Given the description of an element on the screen output the (x, y) to click on. 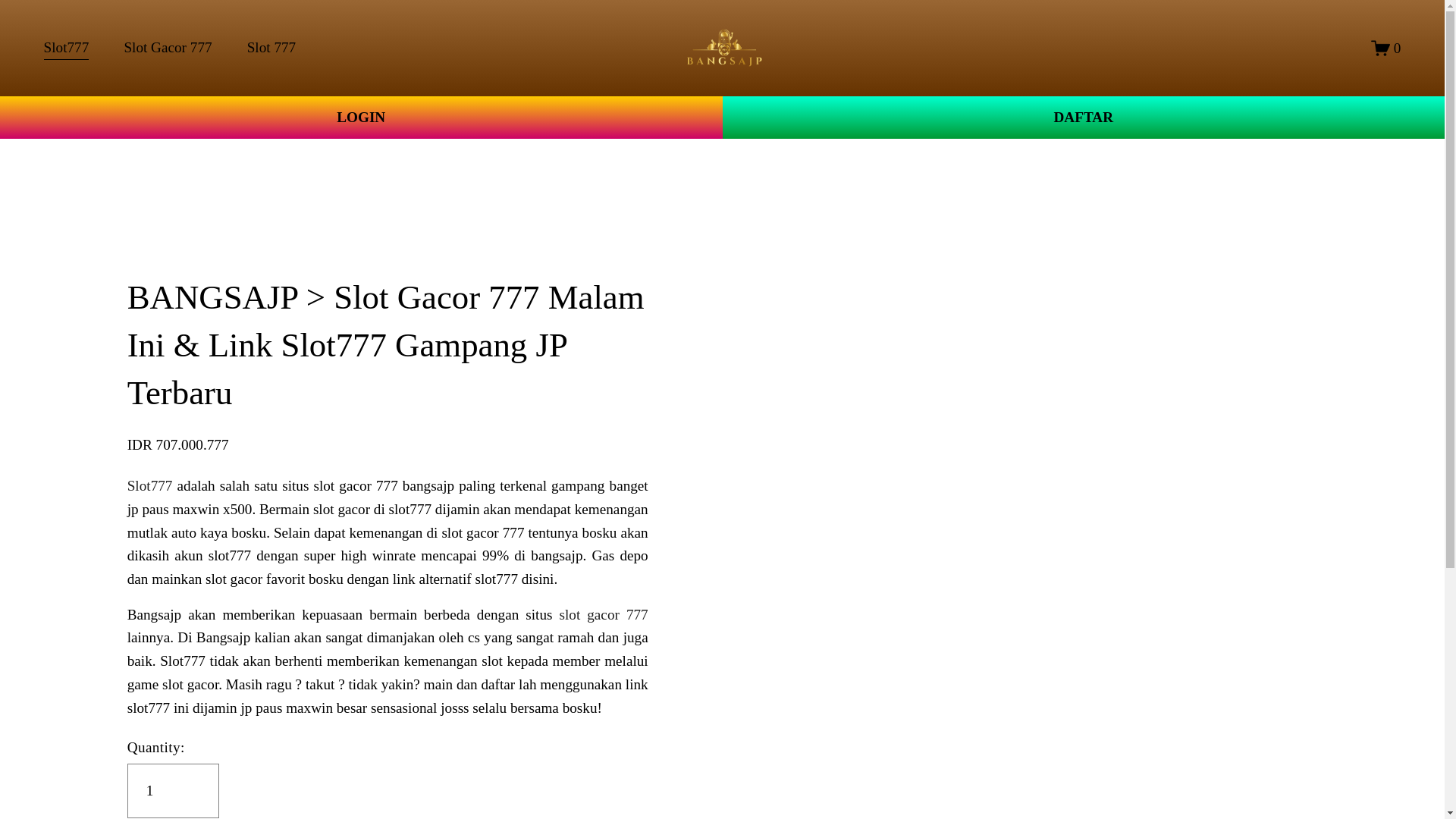
1 (173, 790)
0 (1385, 47)
LOGIN (361, 117)
Slot 777 (272, 48)
Slot777 (65, 48)
Slot777 (150, 485)
slot gacor 777 (603, 614)
Slot Gacor 777 (167, 48)
